Given the description of an element on the screen output the (x, y) to click on. 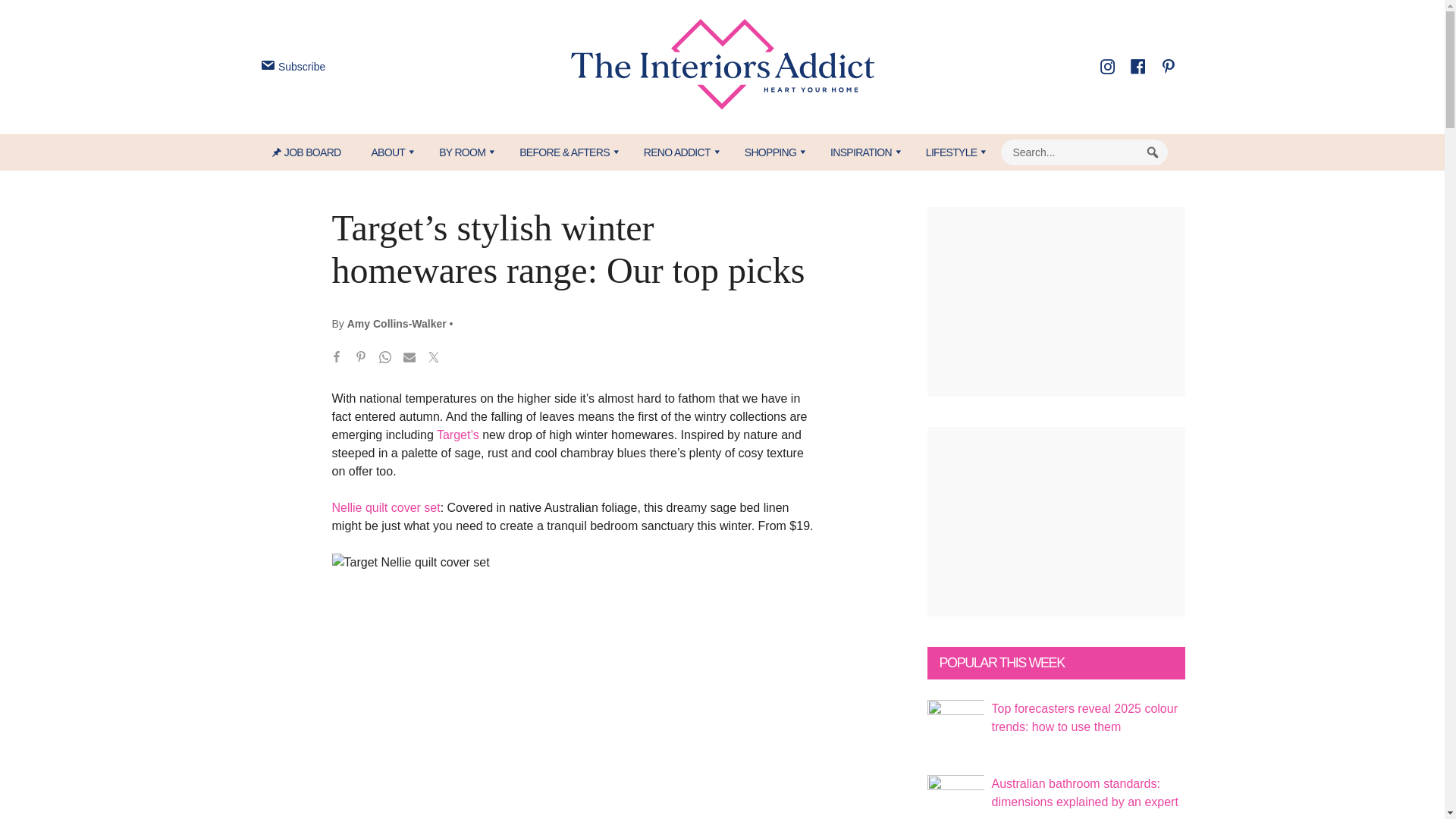
Share on Facebook (336, 359)
ABOUT (389, 152)
BY ROOM (463, 152)
Share via Email (409, 359)
Search (1152, 151)
JOB BOARD (313, 152)
Share on Twitter (433, 359)
Share on Pinterest (360, 359)
YES PLEASE! (793, 294)
Subscribe (291, 66)
